Given the description of an element on the screen output the (x, y) to click on. 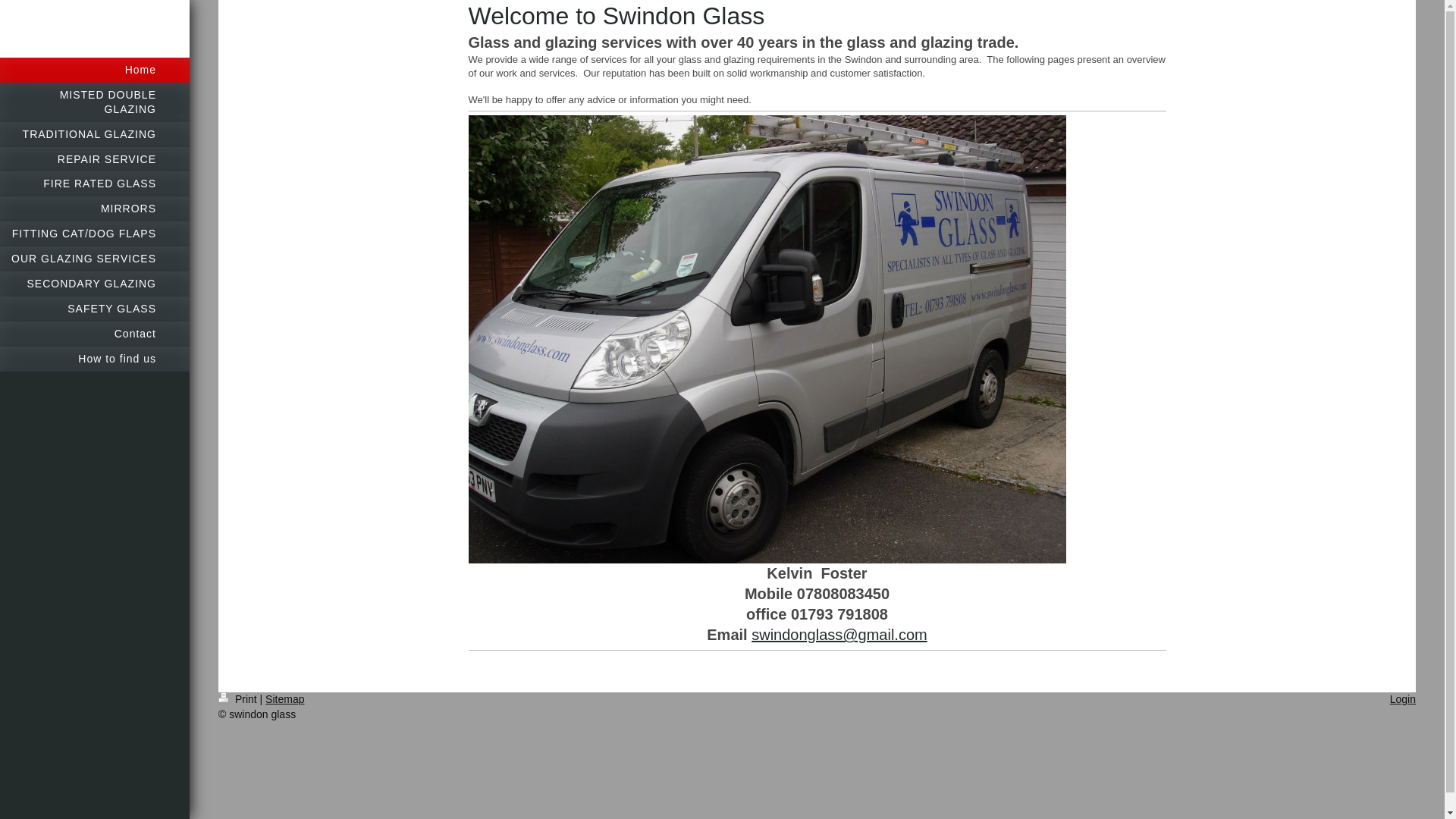
SECONDARY GLAZING (94, 283)
FIRE RATED GLASS (94, 183)
Sitemap (284, 698)
Print (239, 698)
MISTED DOUBLE GLAZING (94, 102)
OUR GLAZING SERVICES (94, 258)
Contact (94, 333)
MIRRORS (94, 208)
Login (1402, 698)
Home (94, 69)
How to find us (94, 358)
SAFETY GLASS (94, 308)
TRADITIONAL GLAZING (94, 134)
REPAIR SERVICE (94, 159)
